Given the description of an element on the screen output the (x, y) to click on. 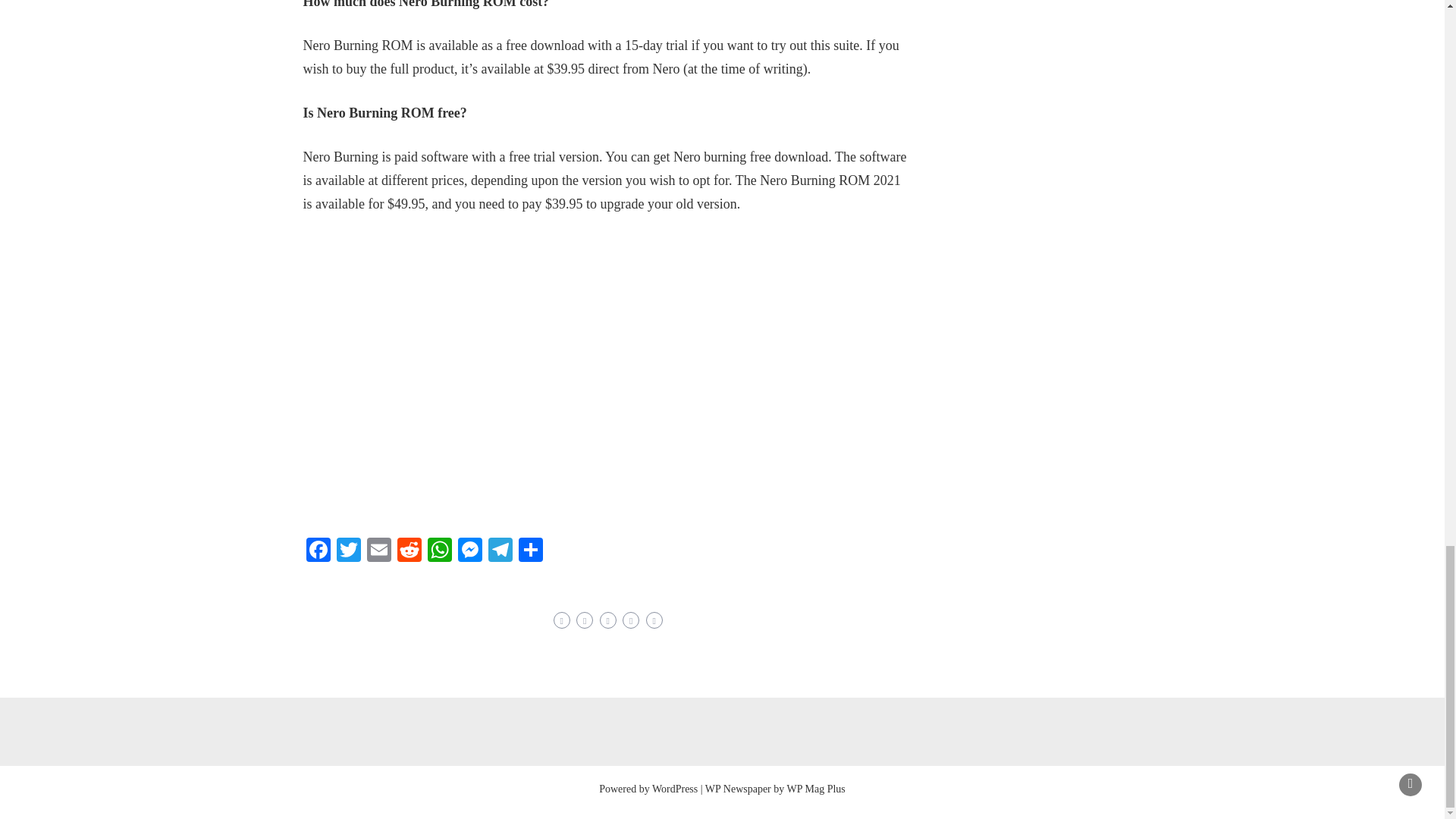
Email (379, 551)
Twitter (348, 551)
Twitter (348, 551)
Telegram (499, 551)
Facebook (317, 551)
Reddit (409, 551)
Facebook (317, 551)
Email (379, 551)
WhatsApp (439, 551)
Telegram (499, 551)
Nero Video Stopped Working (545, 372)
WhatsApp (439, 551)
Messenger (469, 551)
Messenger (469, 551)
Reddit (409, 551)
